Given the description of an element on the screen output the (x, y) to click on. 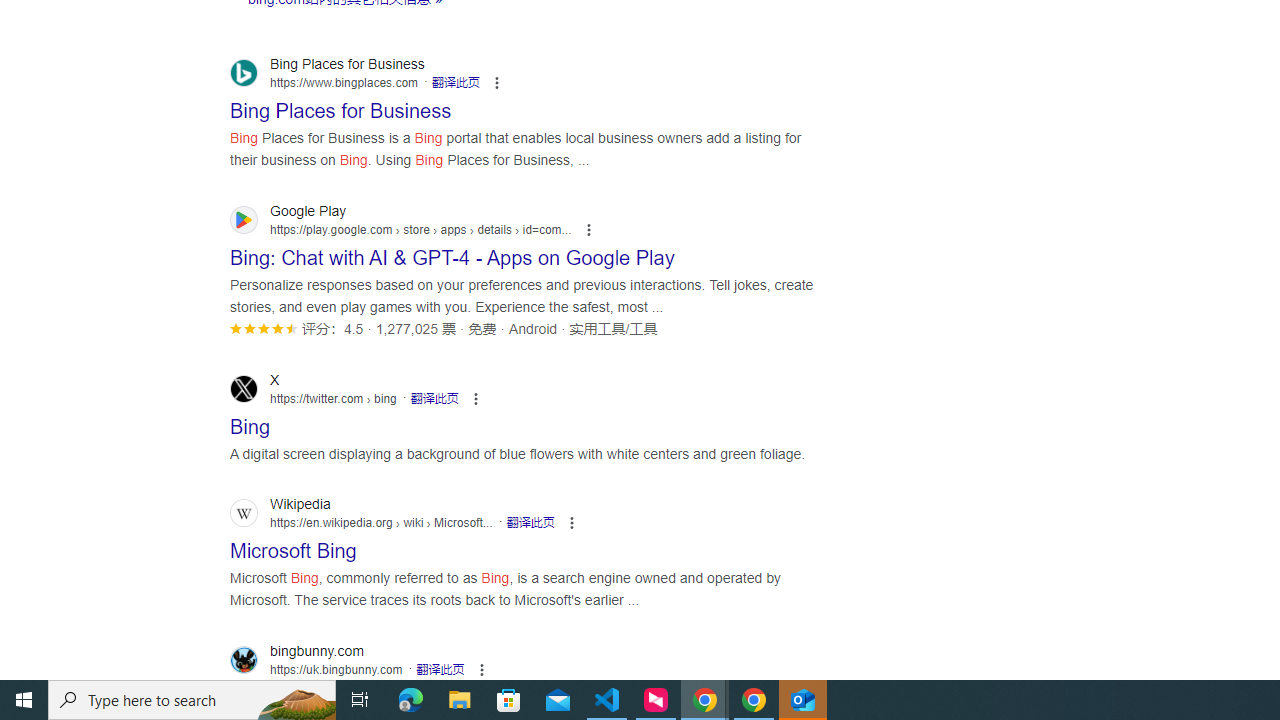
 Bing Bunny: Home bingbunny.com https://uk.bingbunny.com (313, 692)
